Given the description of an element on the screen output the (x, y) to click on. 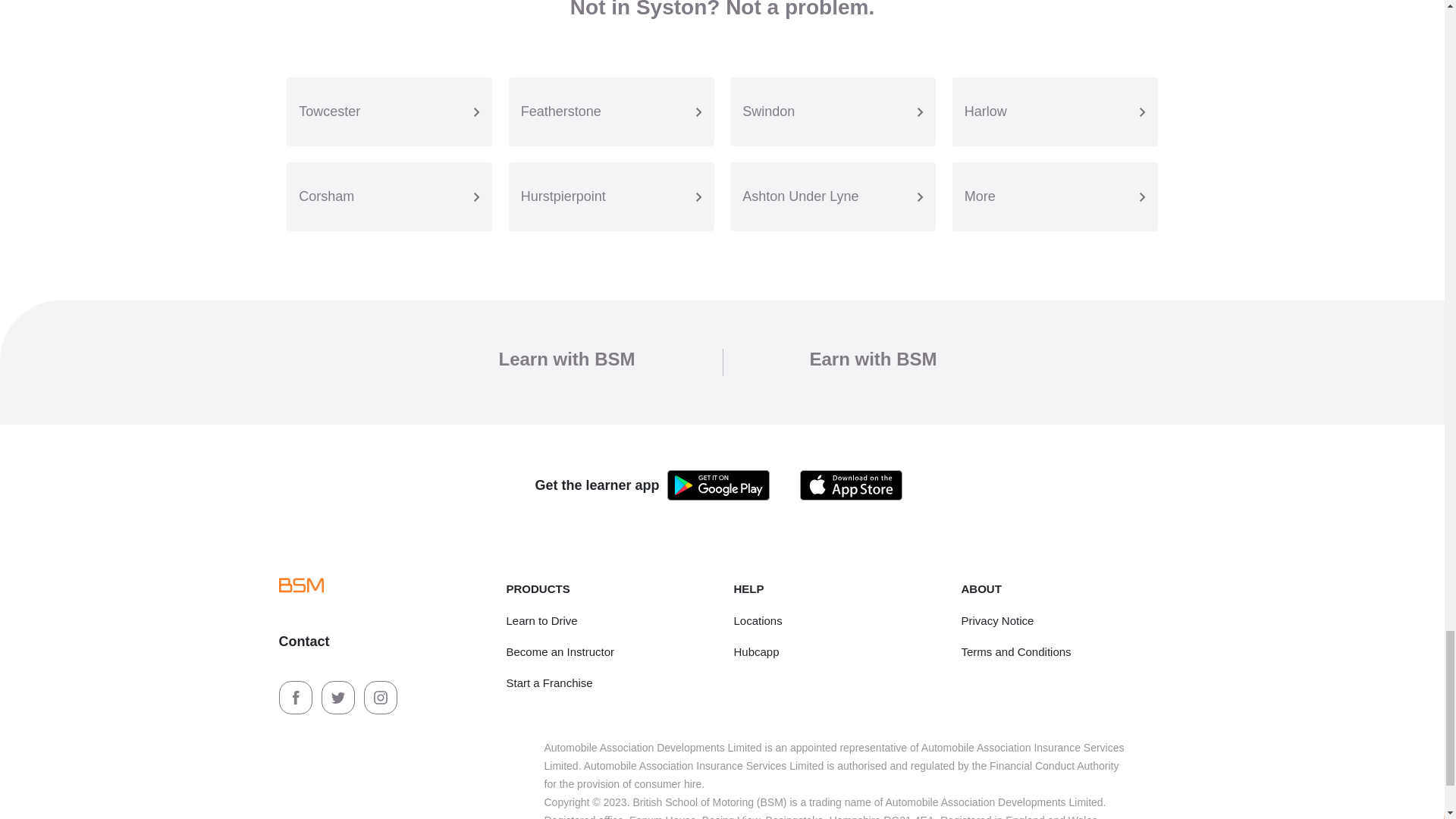
Download our app at Google Play (718, 484)
Ashton Under Lyne (833, 196)
Swindon (833, 111)
Harlow (1054, 111)
Earn with BSM (873, 358)
Featherstone (611, 111)
Hurstpierpoint (611, 196)
Download our app at the Apple app store (850, 484)
Towcester (389, 111)
Facebook (297, 696)
More (1054, 196)
Corsham (389, 196)
Instagram (380, 696)
Twitter (339, 696)
Learn with BSM (565, 358)
